Given the description of an element on the screen output the (x, y) to click on. 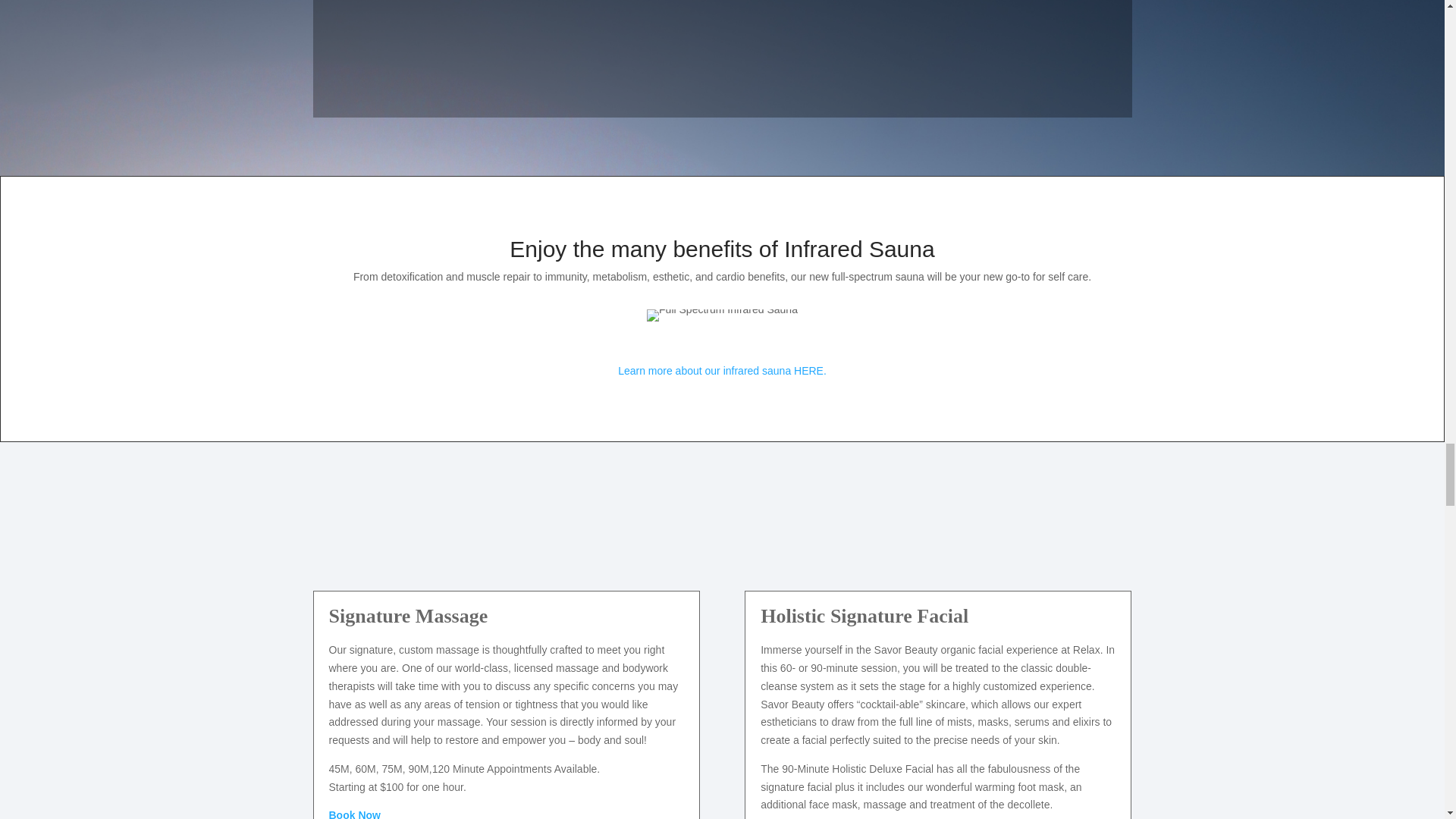
Book Now (354, 814)
mpulse (721, 315)
Learn more about our infrared sauna HERE. (722, 370)
